Given the description of an element on the screen output the (x, y) to click on. 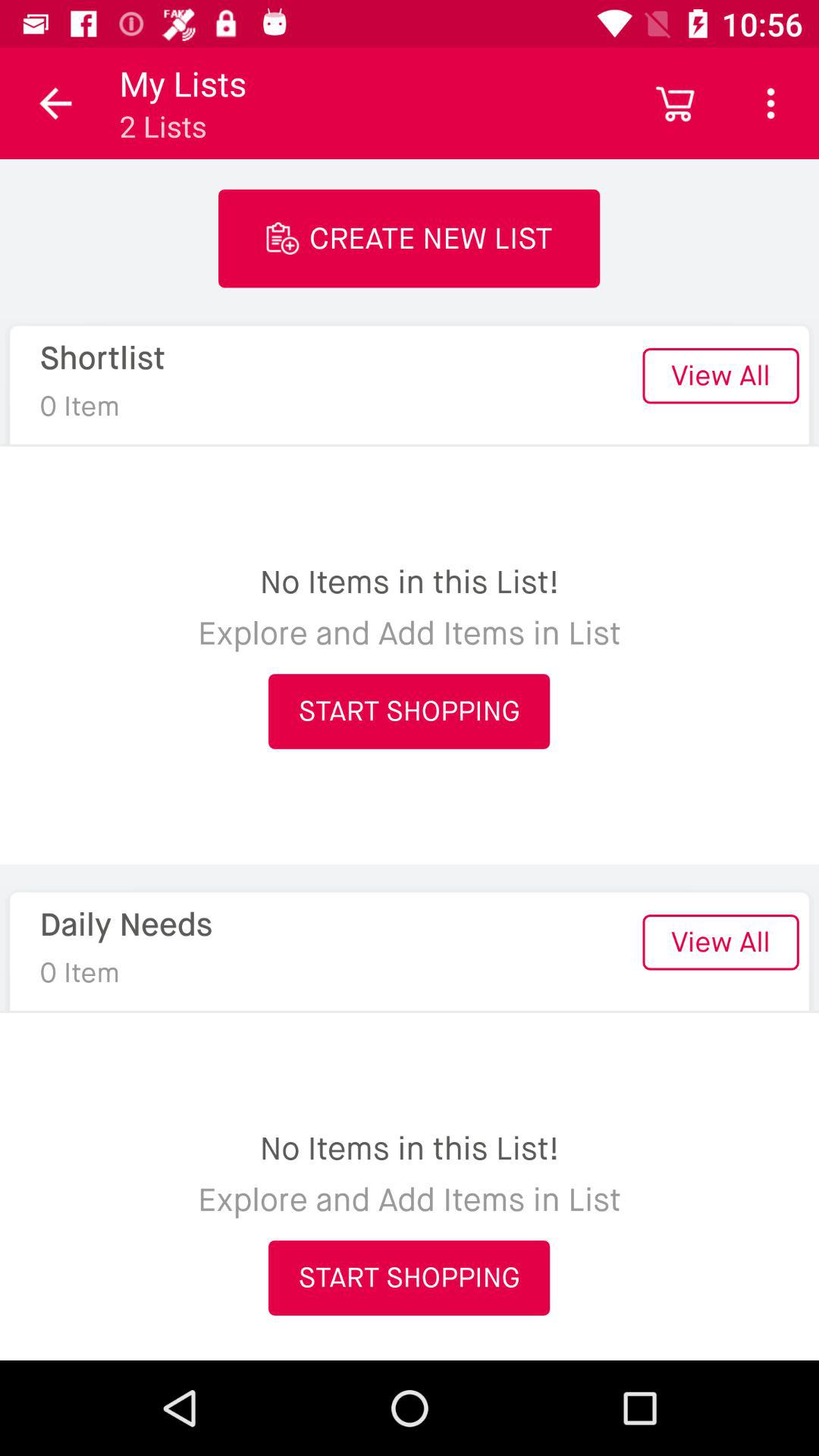
swipe to the create new list (409, 238)
